Given the description of an element on the screen output the (x, y) to click on. 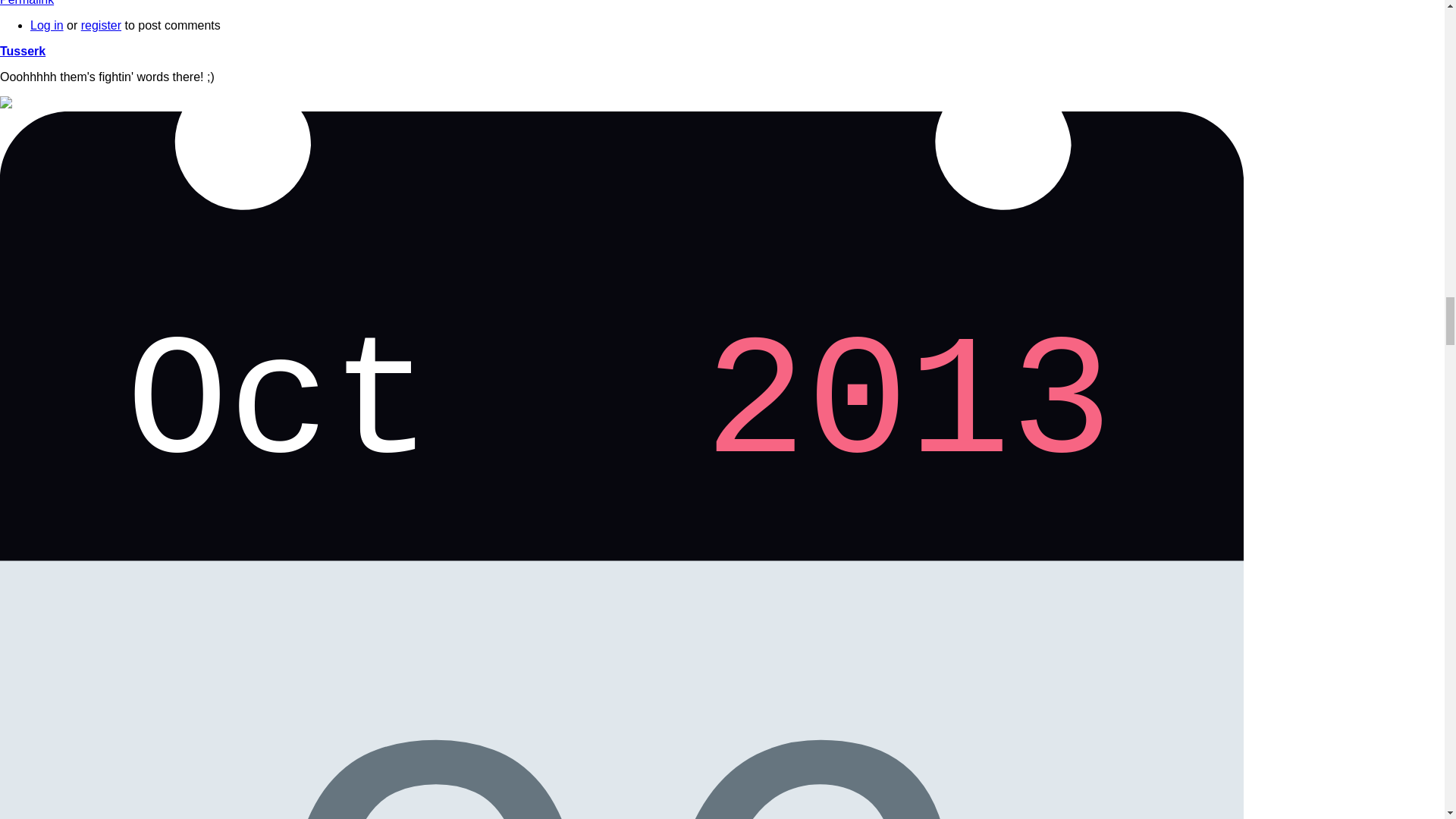
Log in (47, 24)
register (100, 24)
Permalink (26, 2)
View user profile. (22, 51)
